Given the description of an element on the screen output the (x, y) to click on. 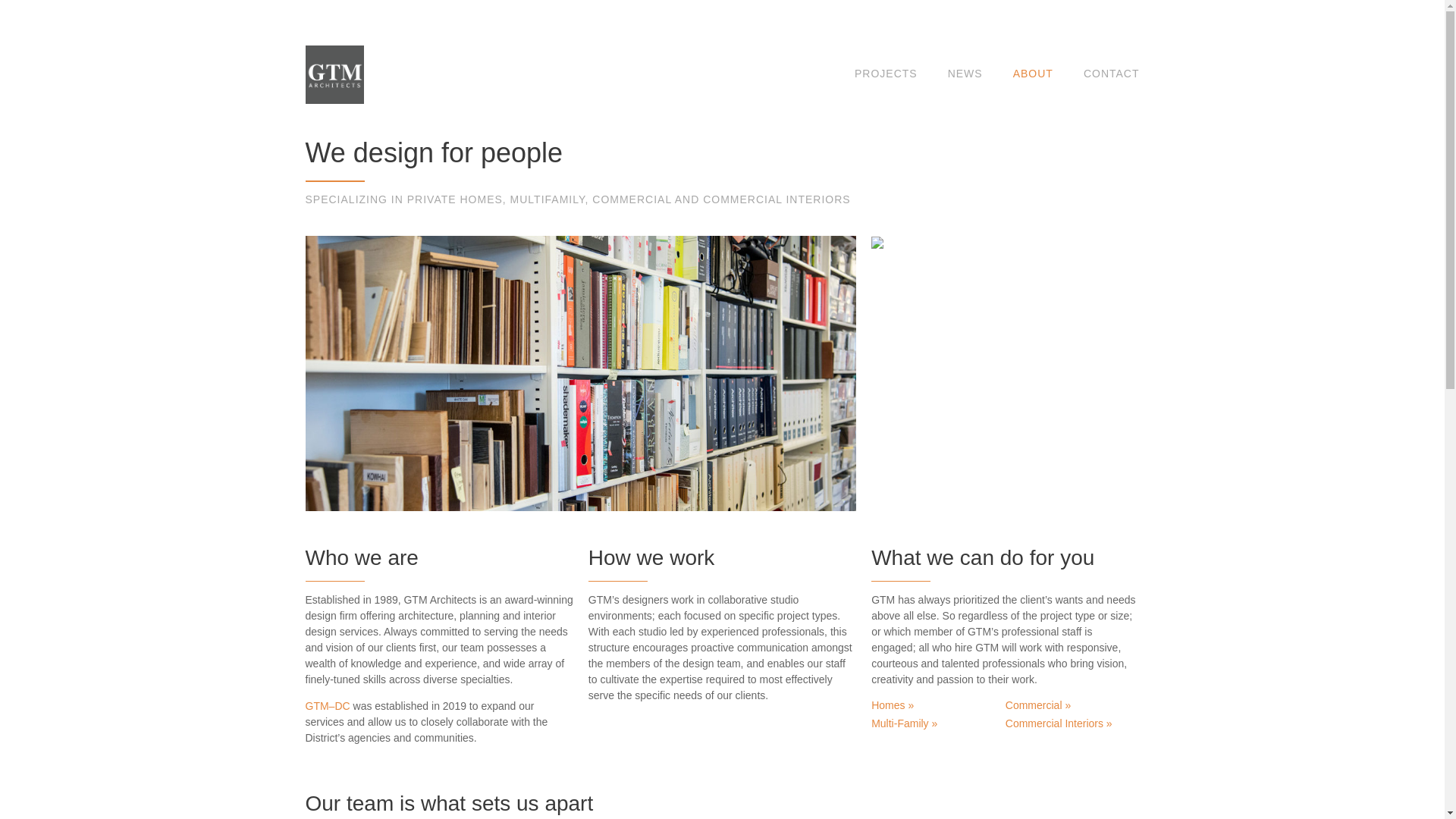
NEWS (964, 73)
GTM Architects (333, 74)
Submit (1096, 408)
CONTACT (1111, 73)
PROJECTS (885, 73)
ABOUT (1032, 73)
